Given the description of an element on the screen output the (x, y) to click on. 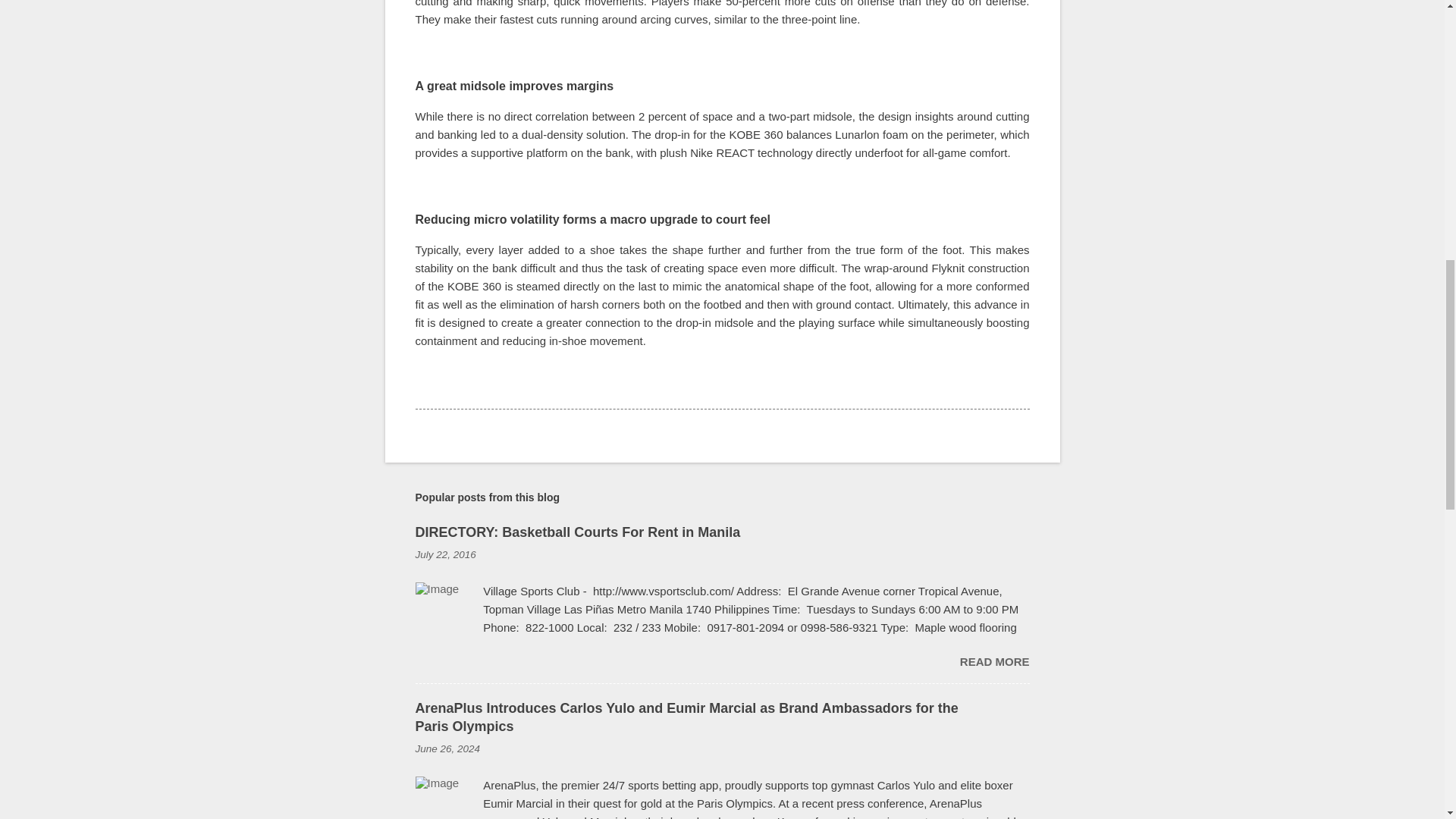
DIRECTORY: Basketball Courts For Rent in Manila (577, 531)
READ MORE (994, 661)
June 26, 2024 (447, 748)
permanent link (445, 554)
DIRECTORY: Basketball Courts For Rent in Manila (994, 661)
permanent link (447, 748)
July 22, 2016 (445, 554)
